Given the description of an element on the screen output the (x, y) to click on. 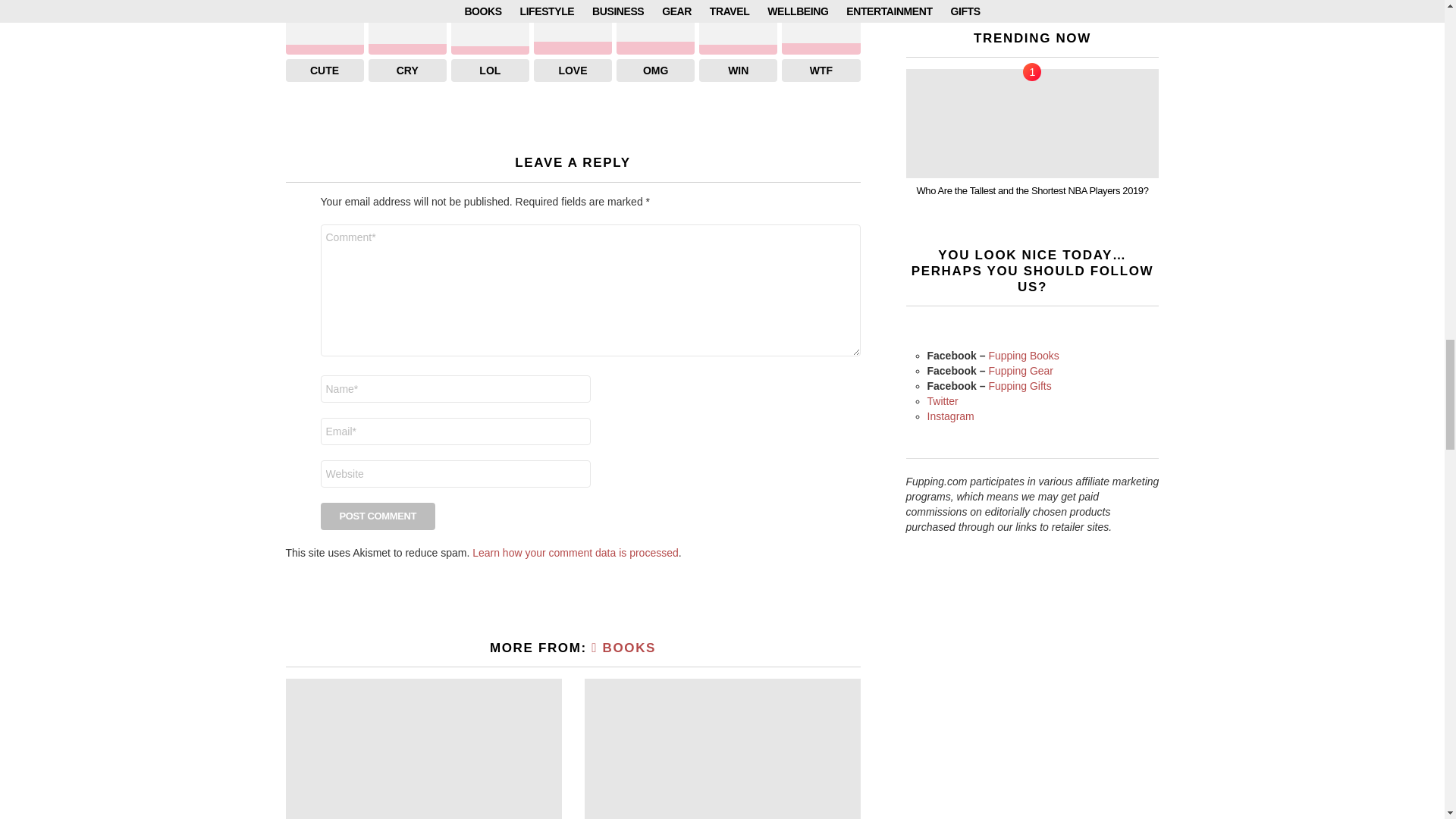
Post Comment (377, 515)
